Given the description of an element on the screen output the (x, y) to click on. 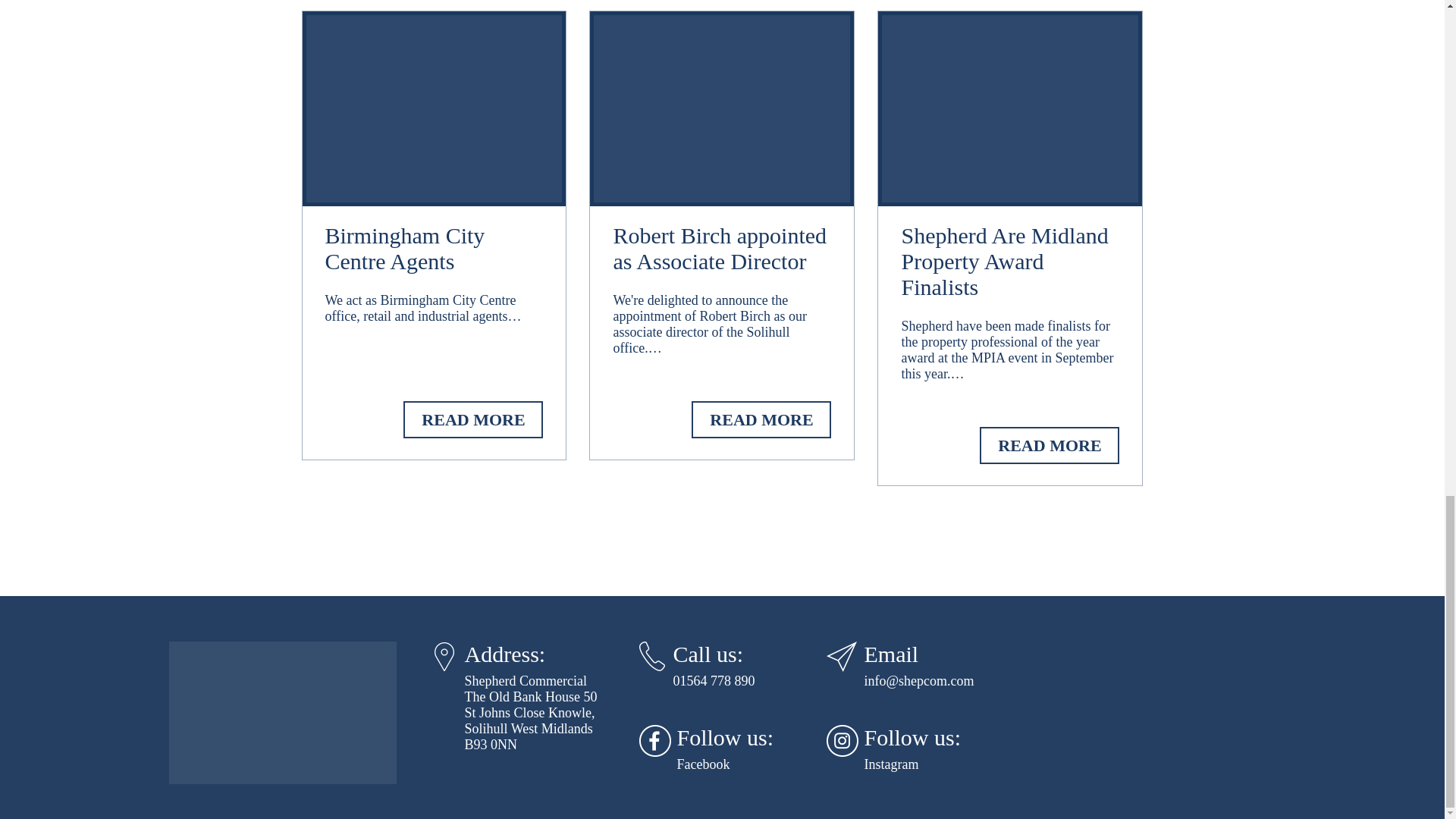
READ MORE (473, 419)
Robert Birch appointed as Associate Director (721, 251)
READ MORE (761, 419)
Shepherd Are Midland Property Award Finalists (1010, 264)
See More (1049, 445)
Birmingham City Centre Agents (433, 251)
See More (761, 419)
READ MORE (1049, 445)
See More (473, 419)
